Given the description of an element on the screen output the (x, y) to click on. 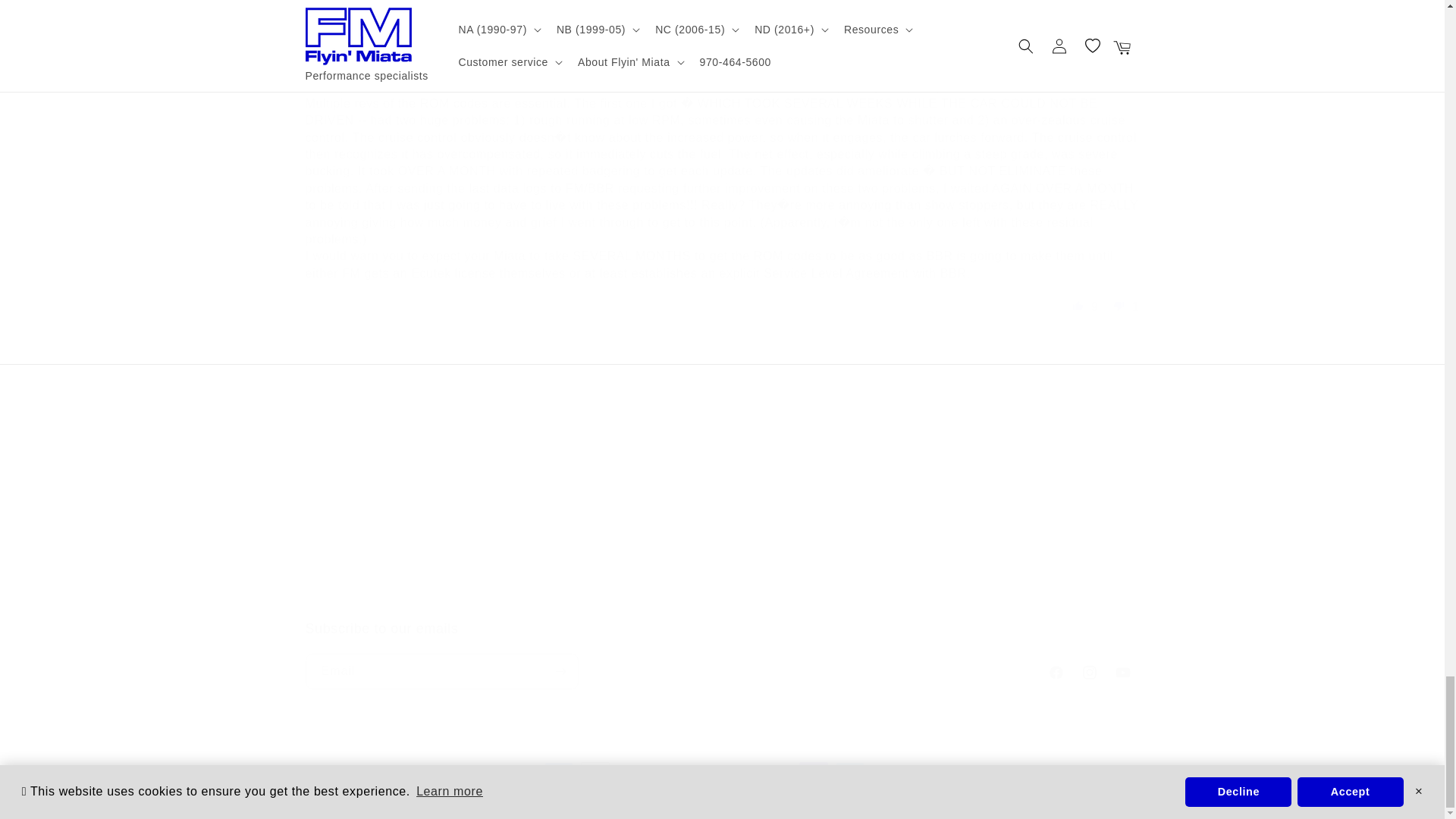
up (1077, 305)
down (1119, 305)
